Given the description of an element on the screen output the (x, y) to click on. 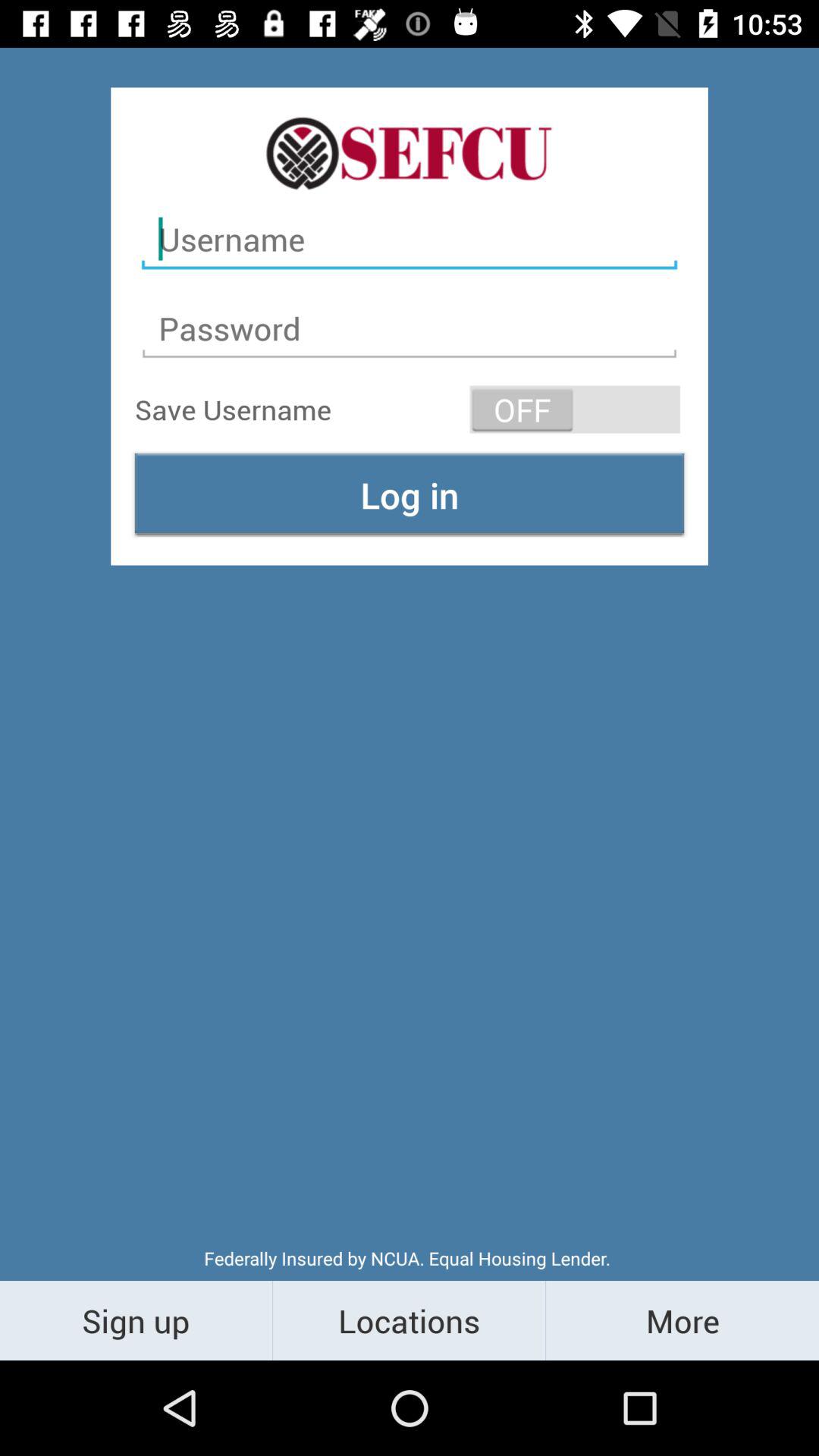
press the icon at the top right corner (574, 409)
